Given the description of an element on the screen output the (x, y) to click on. 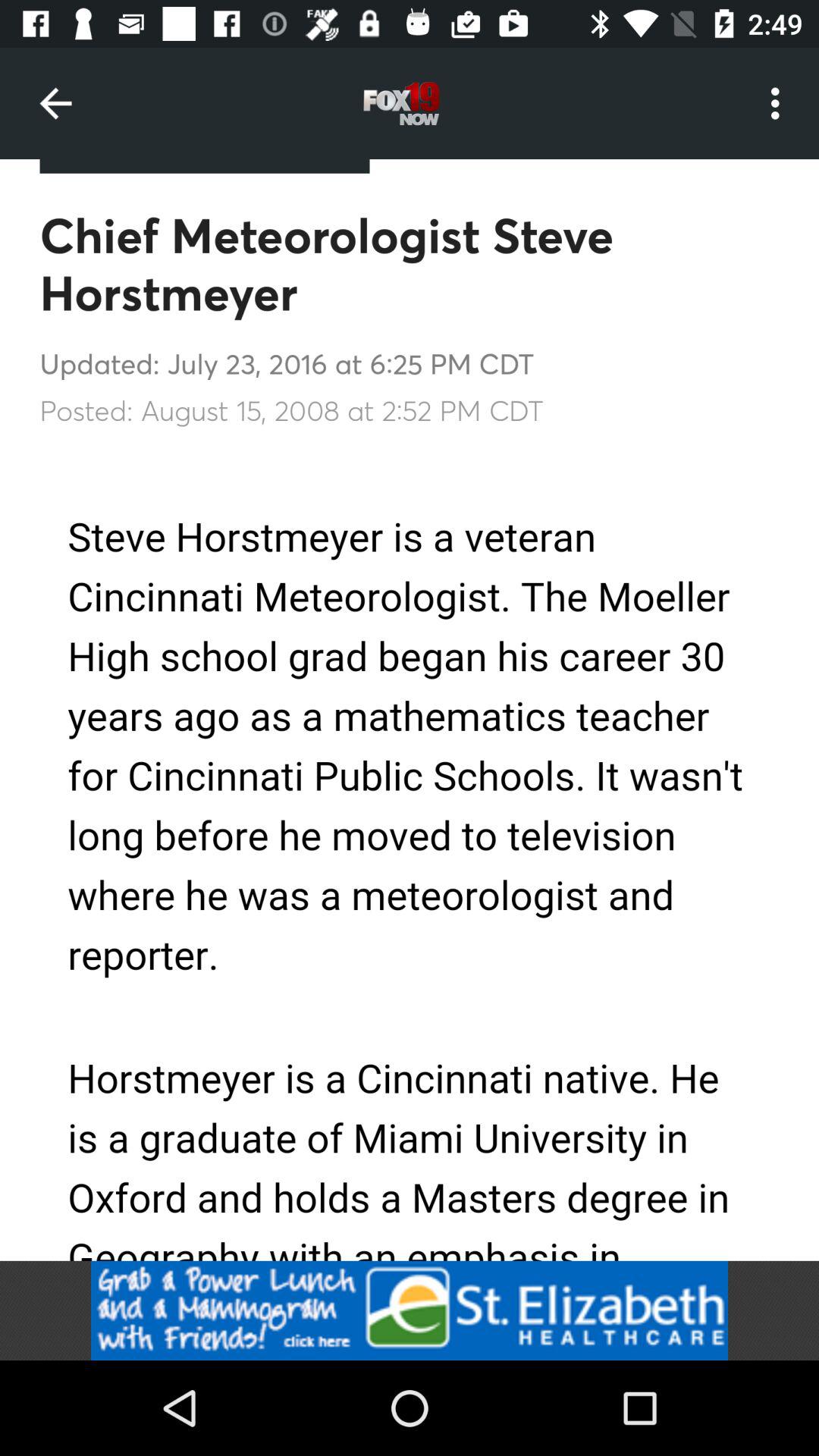
click to grab the power lunch and a mammogram with friends (409, 1310)
